Given the description of an element on the screen output the (x, y) to click on. 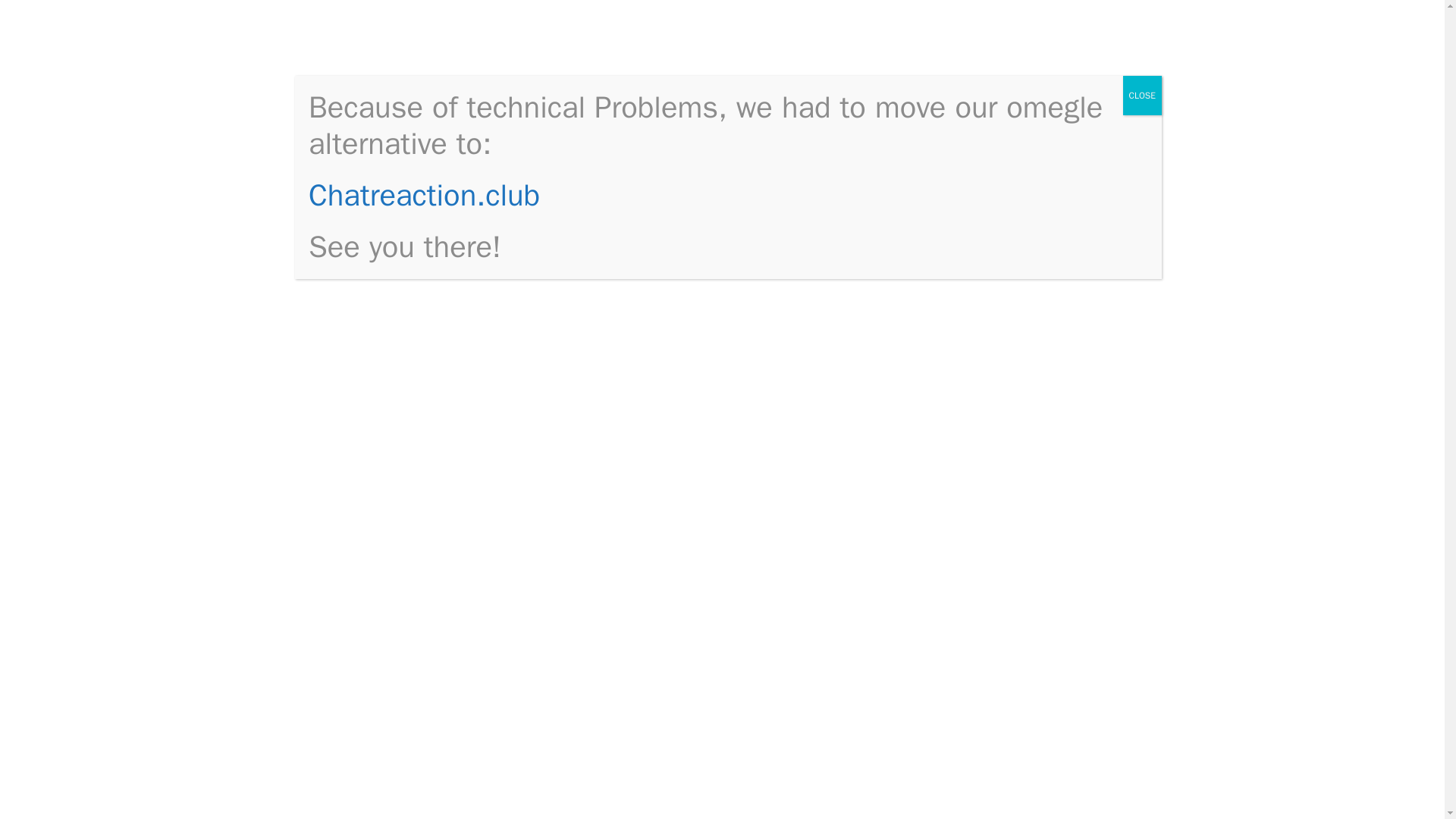
Post Comment (391, 781)
